Given the description of an element on the screen output the (x, y) to click on. 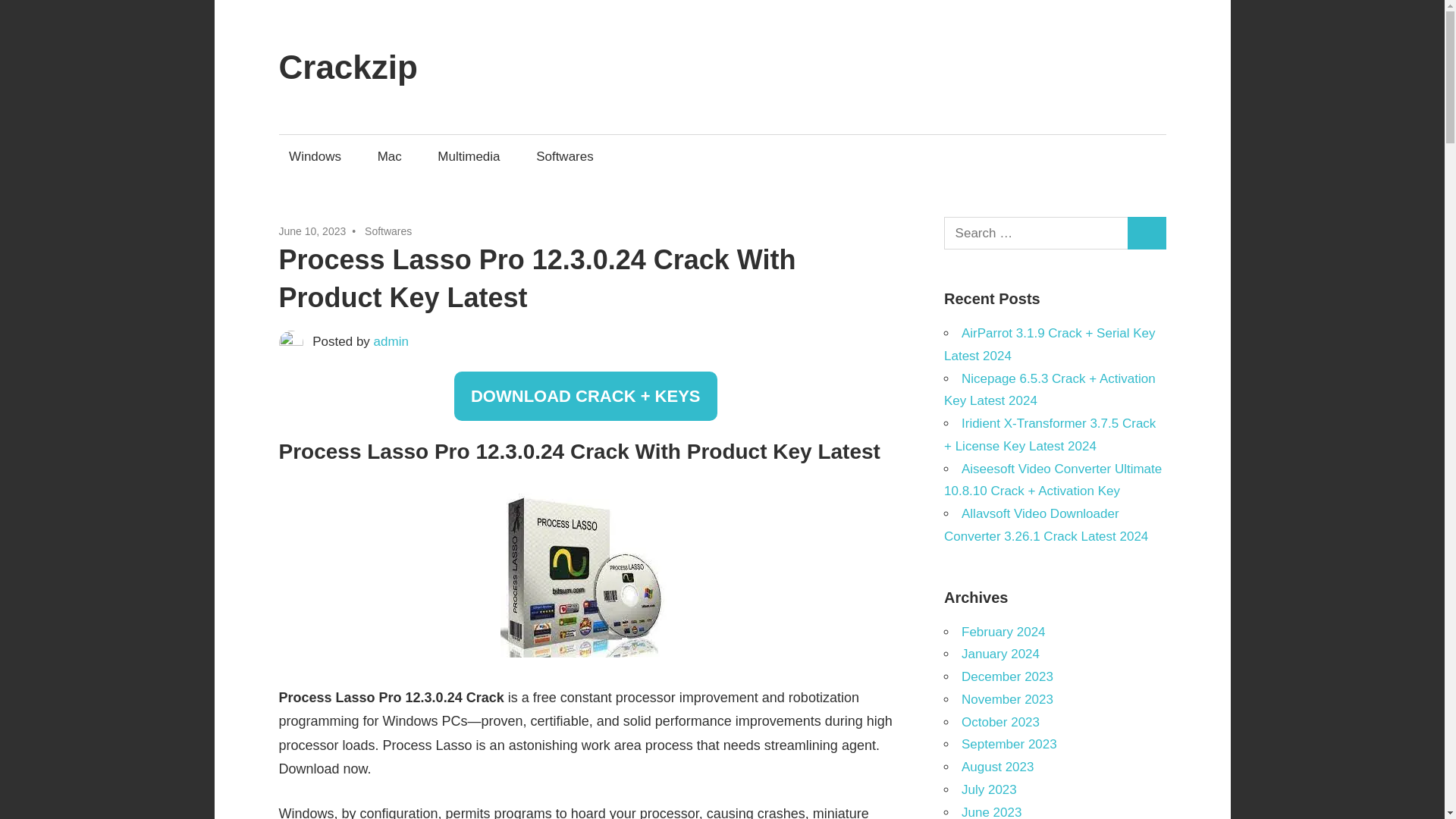
February 2024 (1002, 631)
December 2023 (1006, 676)
Softwares (564, 156)
7:39 am (312, 231)
Crackzip (348, 66)
Softwares (388, 231)
Windows (315, 156)
June 10, 2023 (312, 231)
Search for: (1035, 233)
Multimedia (469, 156)
Mac (389, 156)
January 2024 (999, 653)
November 2023 (1006, 699)
View all posts by admin (391, 341)
